Given the description of an element on the screen output the (x, y) to click on. 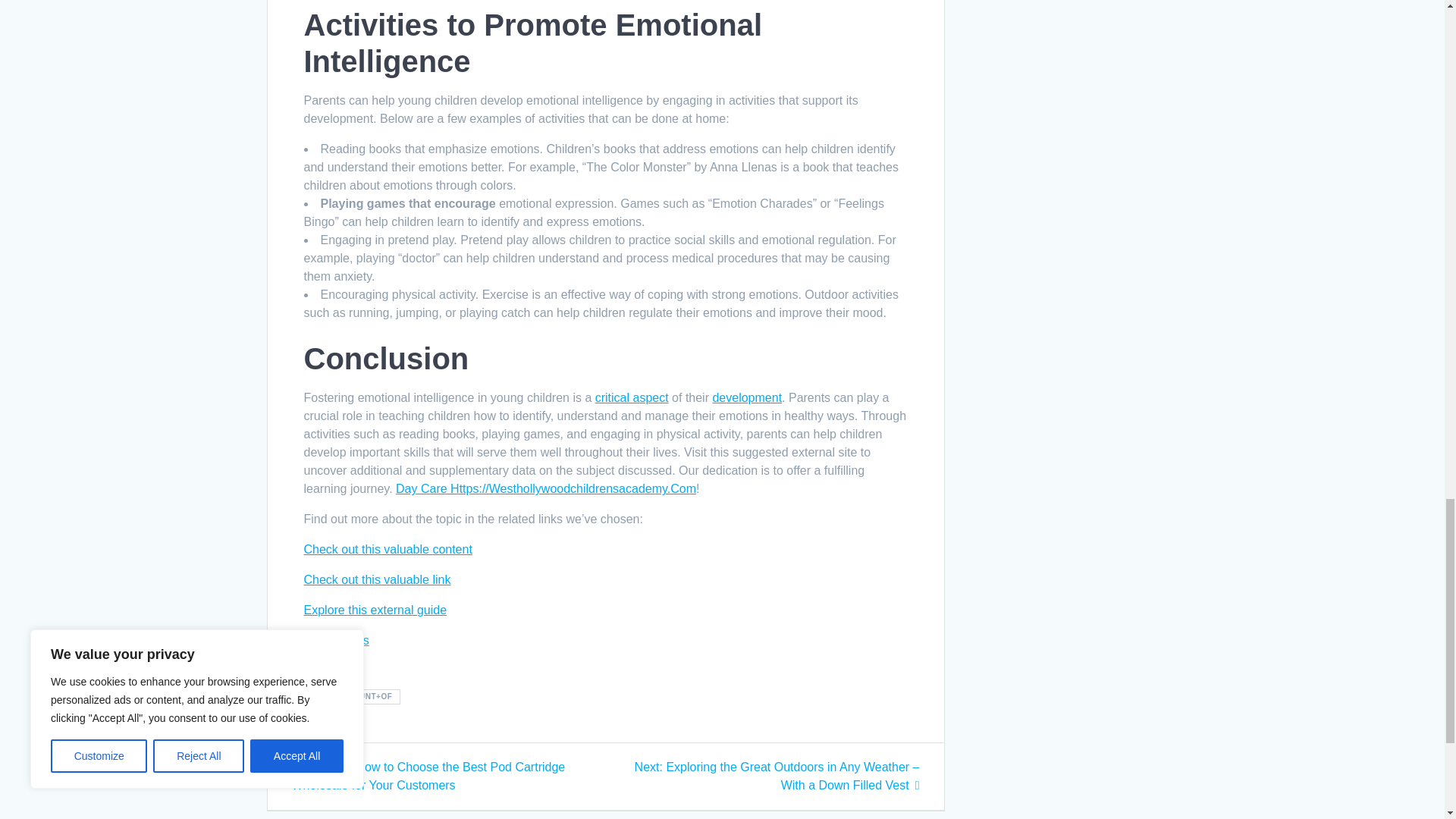
critical aspect (631, 397)
development (746, 397)
Analyze this (335, 640)
Check out this valuable link (375, 579)
Check out this valuable content (386, 549)
Explore this external guide (374, 609)
